Given the description of an element on the screen output the (x, y) to click on. 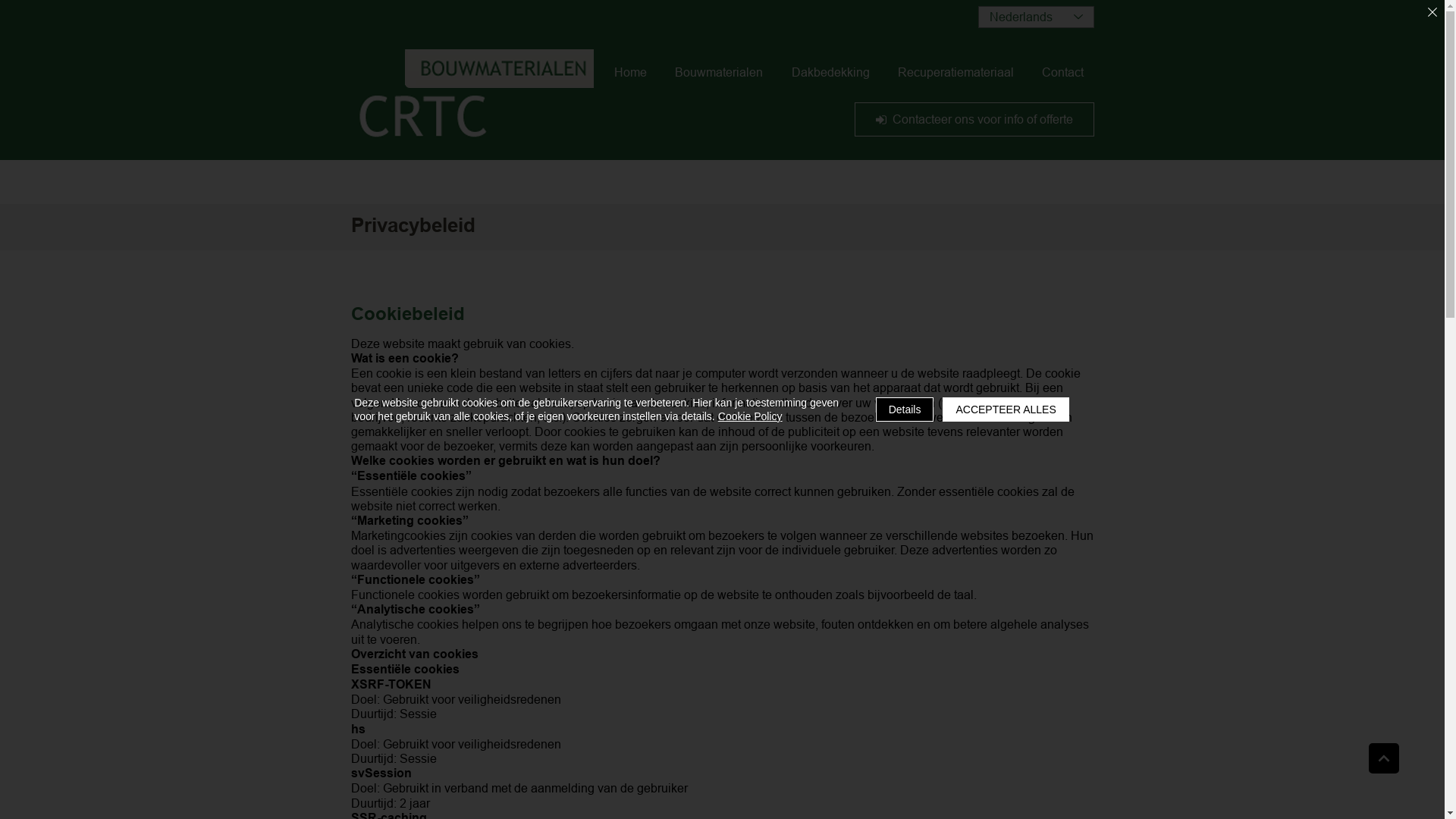
CRTC Belgium-Lataire Element type: hover (471, 97)
Details Element type: text (904, 409)
Recuperatiemateriaal Element type: text (955, 72)
Contacteer ons voor info of offerte Element type: text (973, 119)
Bouwmaterialen Element type: text (719, 72)
Cookie Policy Element type: text (750, 416)
Dakbedekking Element type: text (830, 72)
Contact Element type: text (1062, 72)
ACCEPTEER ALLES Element type: text (1005, 409)
Home Element type: text (629, 72)
Embedded Content Element type: hover (712, 183)
